Given the description of an element on the screen output the (x, y) to click on. 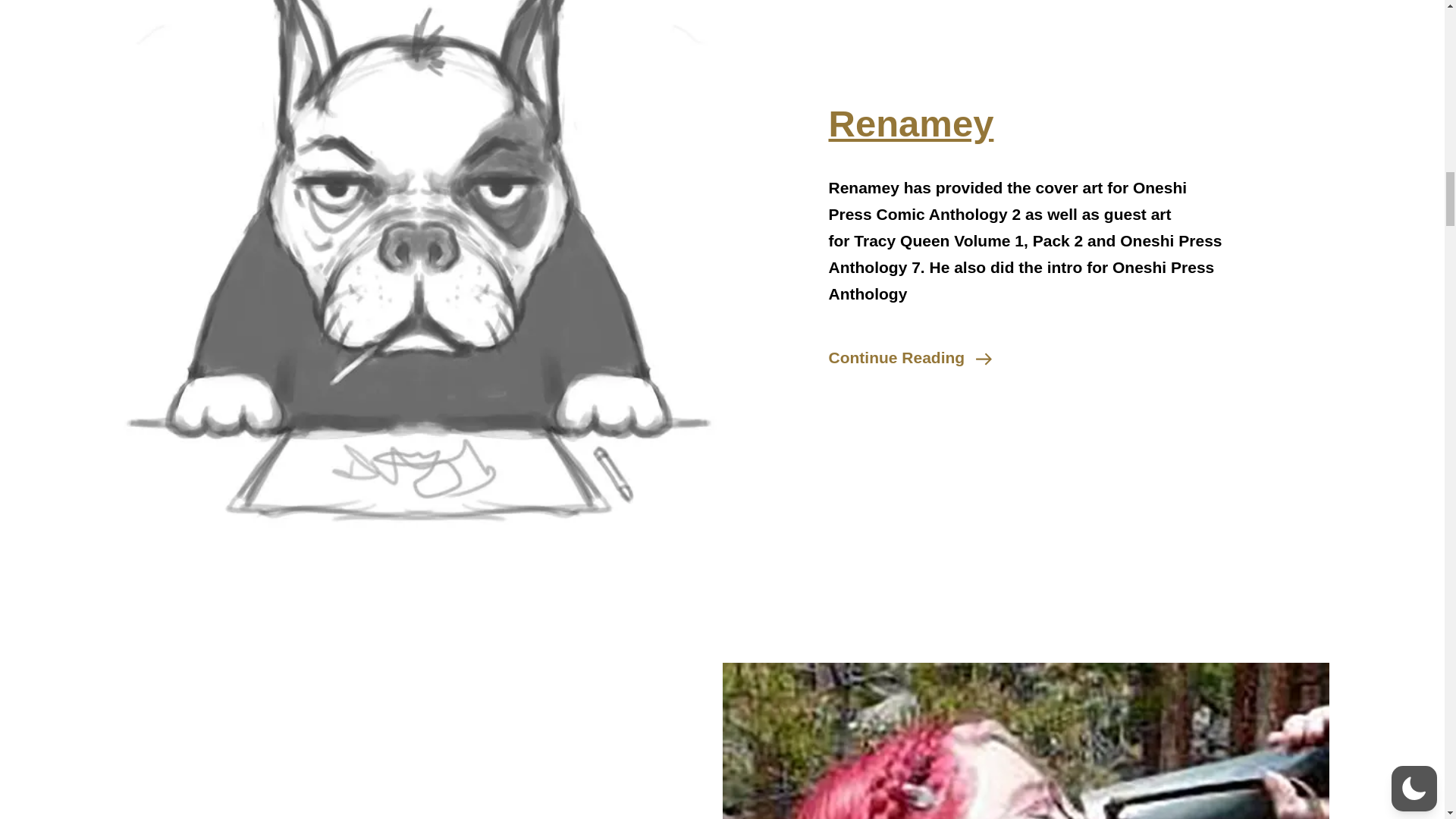
Pink Pitcher (1024, 709)
